Given the description of an element on the screen output the (x, y) to click on. 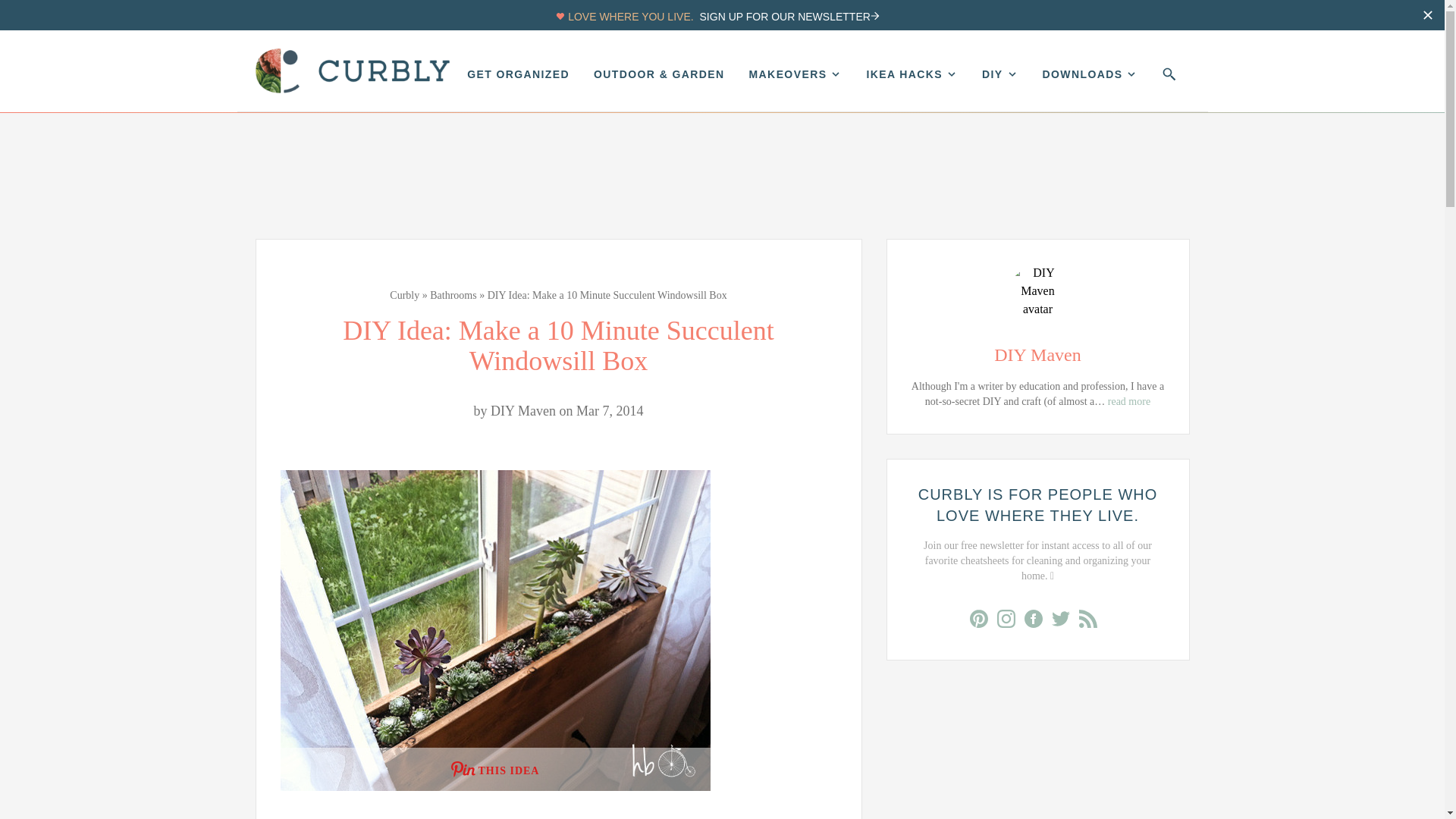
DIY (999, 73)
Bathrooms (452, 295)
Curbly RSS feed (1091, 621)
read more (1129, 401)
DOWNLOADS (1090, 73)
MAKEOVERS (796, 73)
DIY Maven (523, 410)
GET ORGANIZED (518, 73)
Curbly (404, 295)
Curbly on Instagram (1009, 621)
DIY Maven (1037, 330)
Posts by DIY Maven (523, 410)
Curbly on Twitter (1064, 621)
Curbly on Pinterest (982, 621)
IKEA HACKS (912, 73)
